Given the description of an element on the screen output the (x, y) to click on. 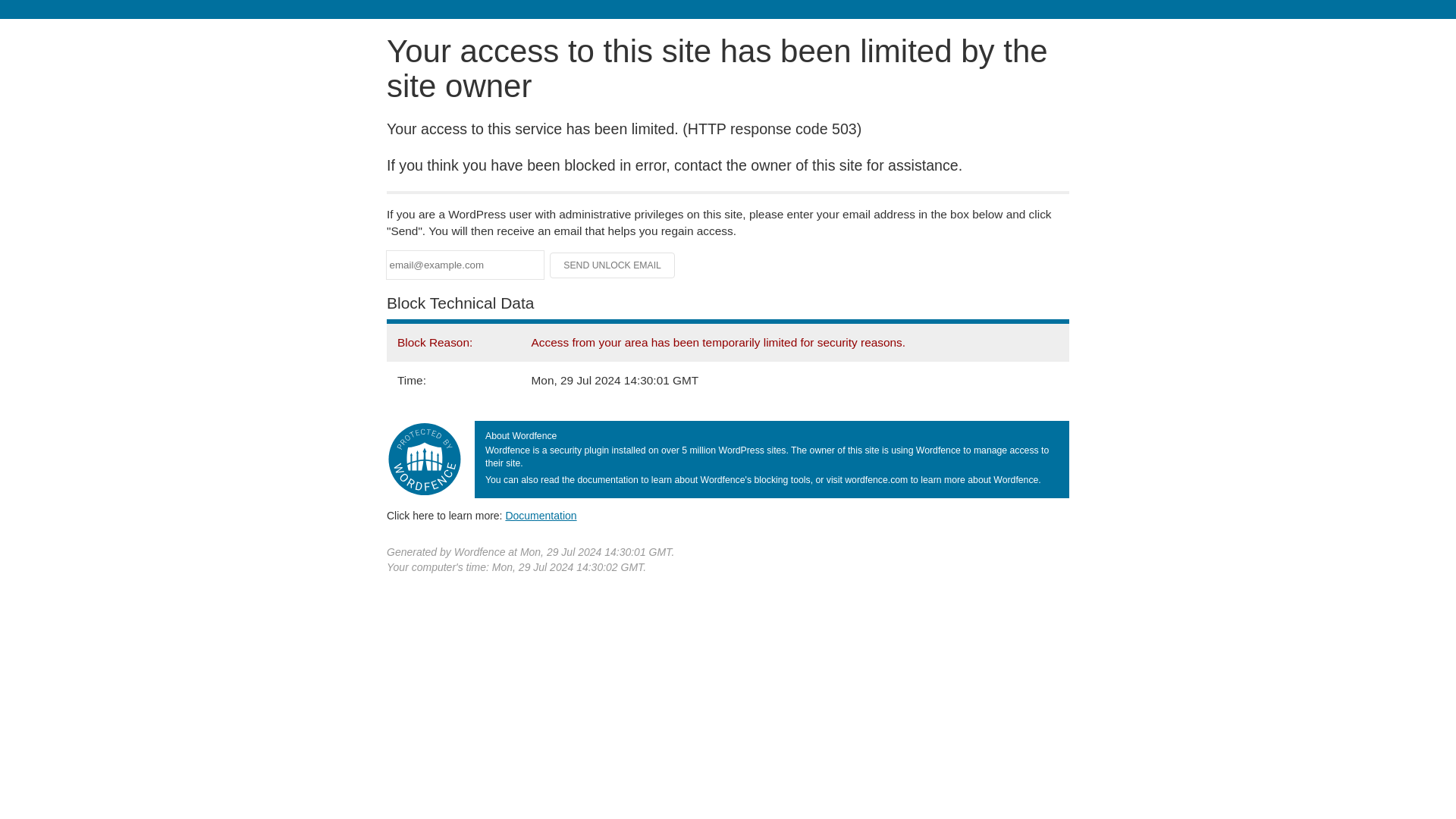
Documentation (540, 515)
Send Unlock Email (612, 265)
Send Unlock Email (612, 265)
